Given the description of an element on the screen output the (x, y) to click on. 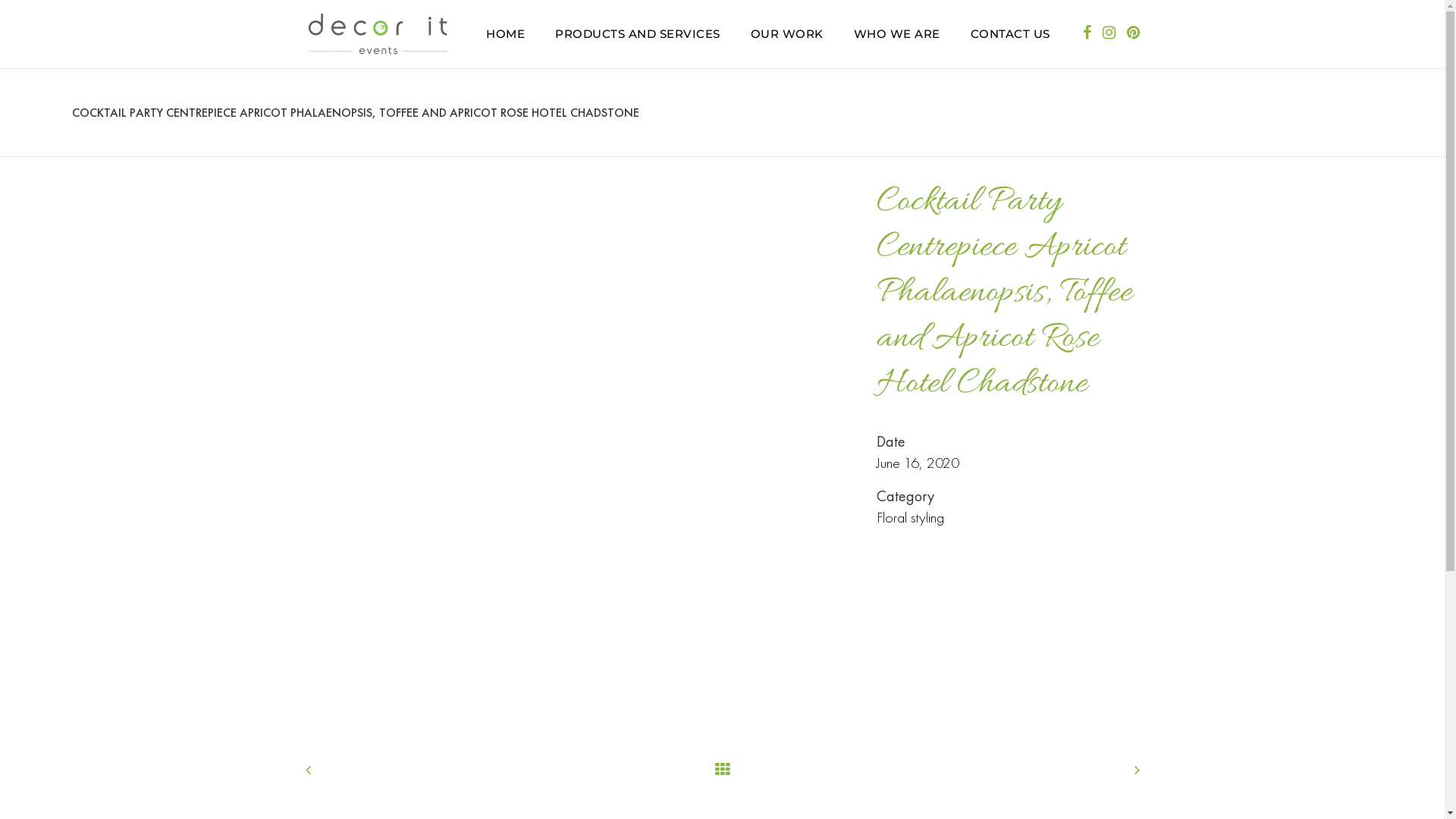
WHO WE ARE Element type: text (896, 34)
OUR WORK Element type: text (786, 34)
PRODUCTS AND SERVICES Element type: text (637, 34)
CONTACT US Element type: text (1010, 34)
HOME Element type: text (504, 34)
